Given the description of an element on the screen output the (x, y) to click on. 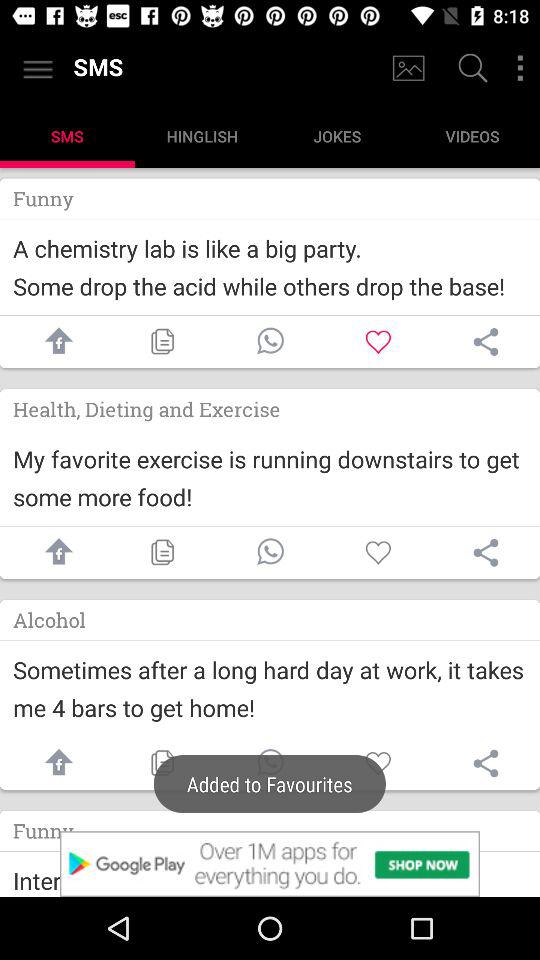
click to add to facebook (54, 552)
